Given the description of an element on the screen output the (x, y) to click on. 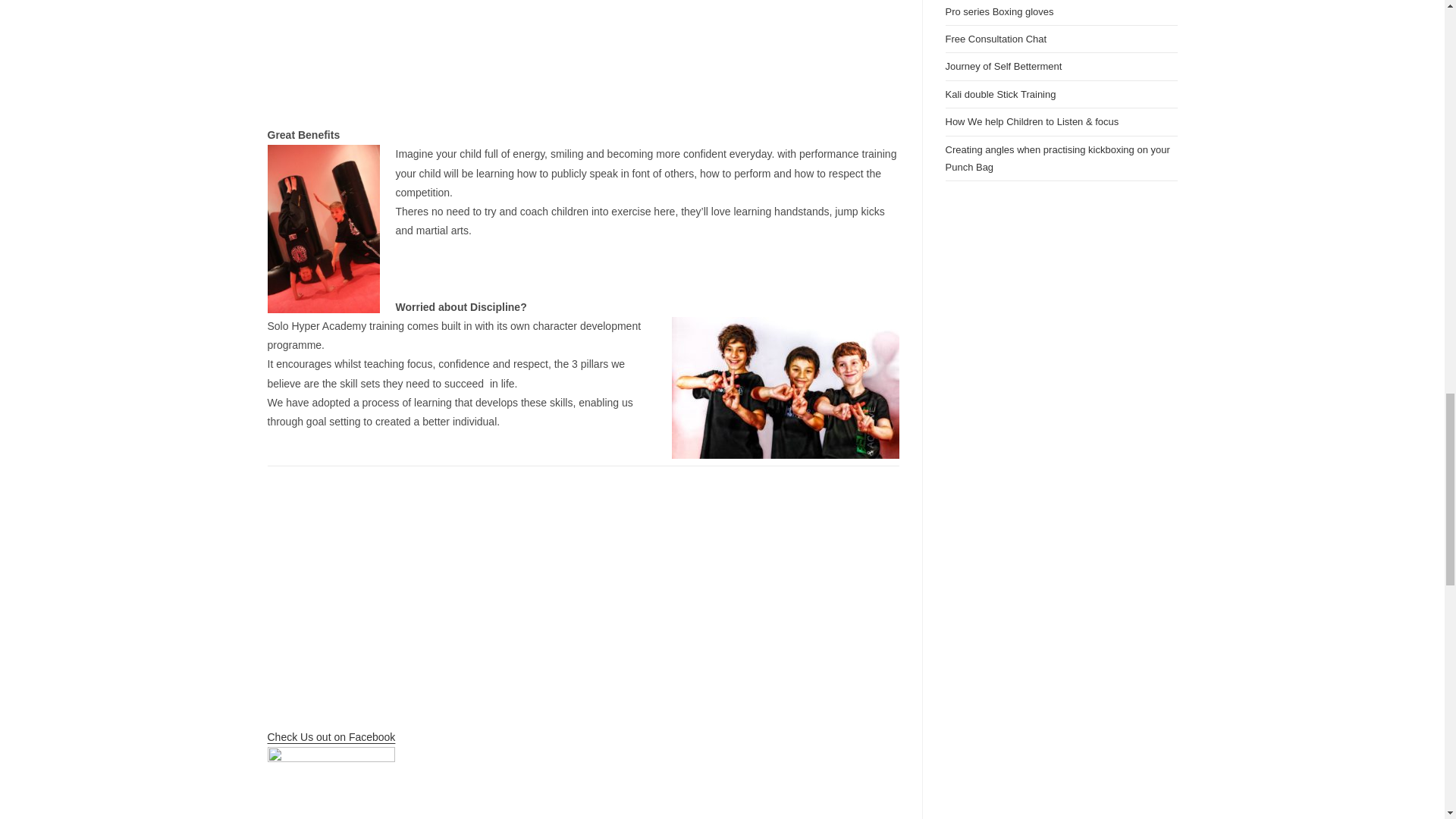
Check Us out on Facebook (330, 736)
